Given the description of an element on the screen output the (x, y) to click on. 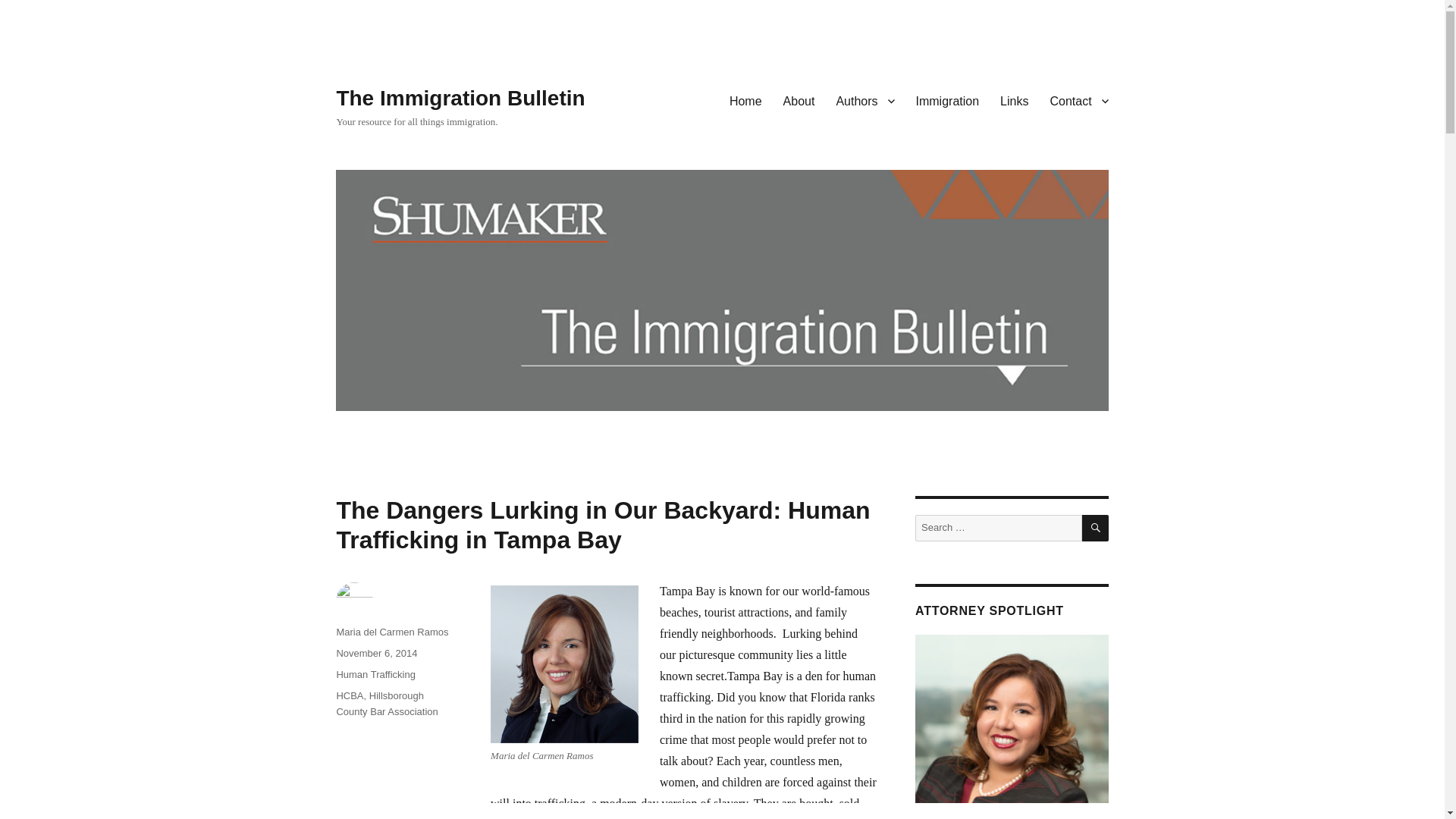
Authors (864, 101)
HCBA (349, 695)
November 6, 2014 (376, 653)
Contact (1078, 101)
Human Trafficking (375, 674)
Links (1014, 101)
About (799, 101)
Hillsborough County Bar Association (387, 703)
Home (746, 101)
Immigration (947, 101)
